Given the description of an element on the screen output the (x, y) to click on. 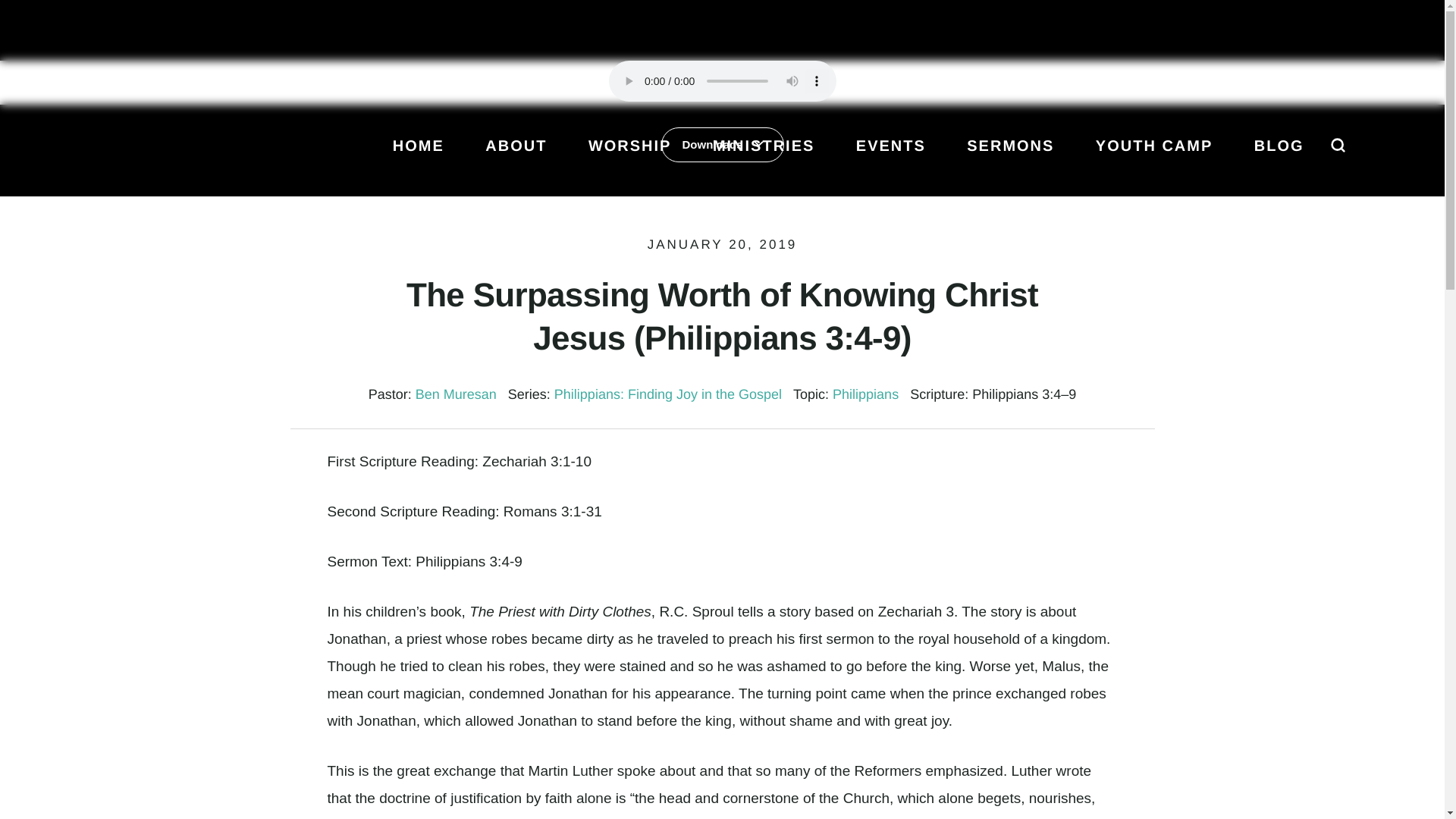
SERMONS (1010, 156)
BLOG (1278, 156)
Philippians (865, 394)
ABOUT (515, 156)
Ben Muresan (455, 394)
WORSHIP (629, 156)
EVENTS (891, 156)
YOUTH CAMP (1154, 156)
Philippians: Finding Joy in the Gospel (667, 394)
MINISTRIES (763, 156)
